Given the description of an element on the screen output the (x, y) to click on. 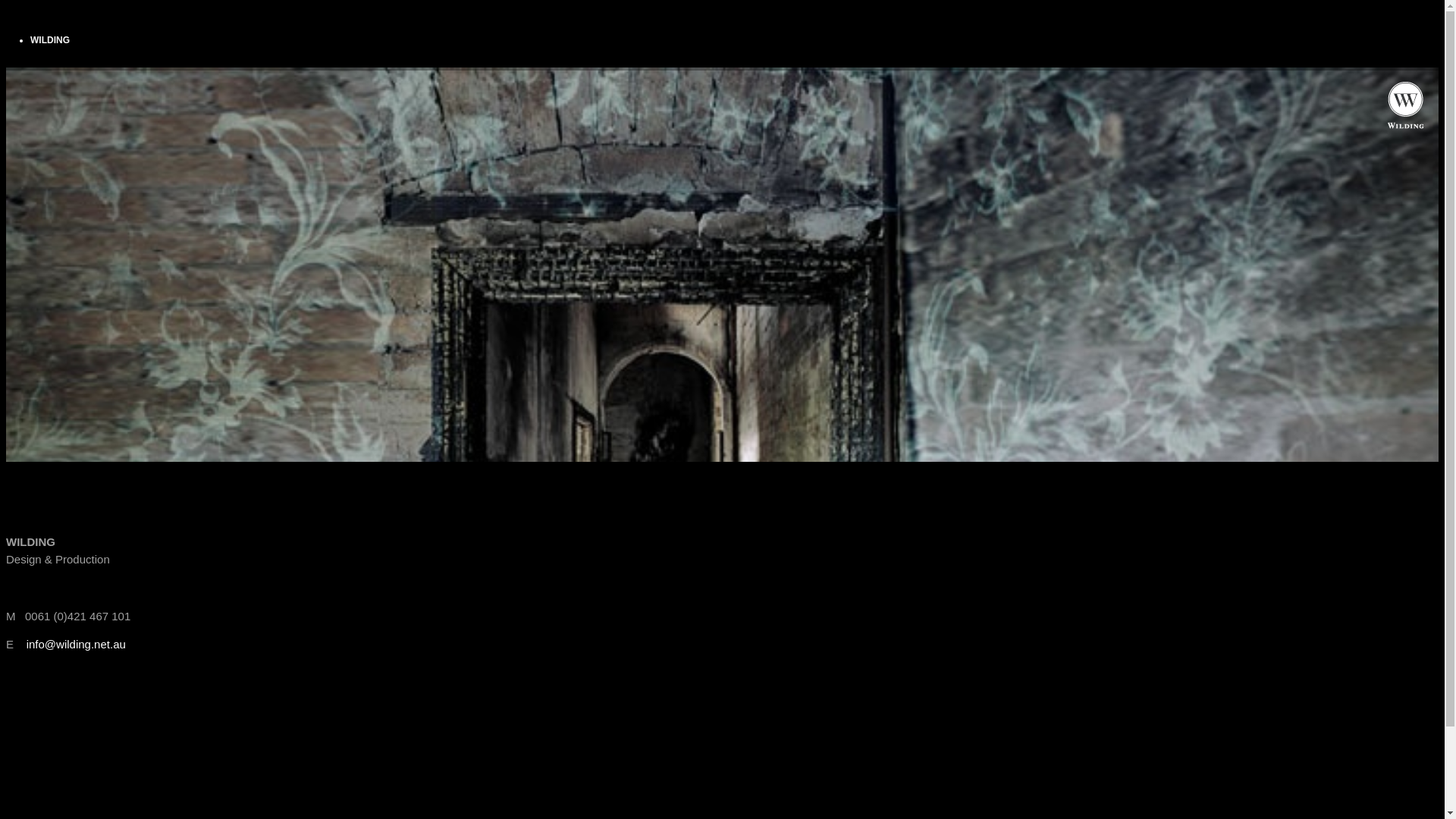
WILDING Element type: text (49, 40)
WILDING WALLPAPER Element type: text (1404, 124)
info@wilding.net.au Element type: text (75, 643)
